Given the description of an element on the screen output the (x, y) to click on. 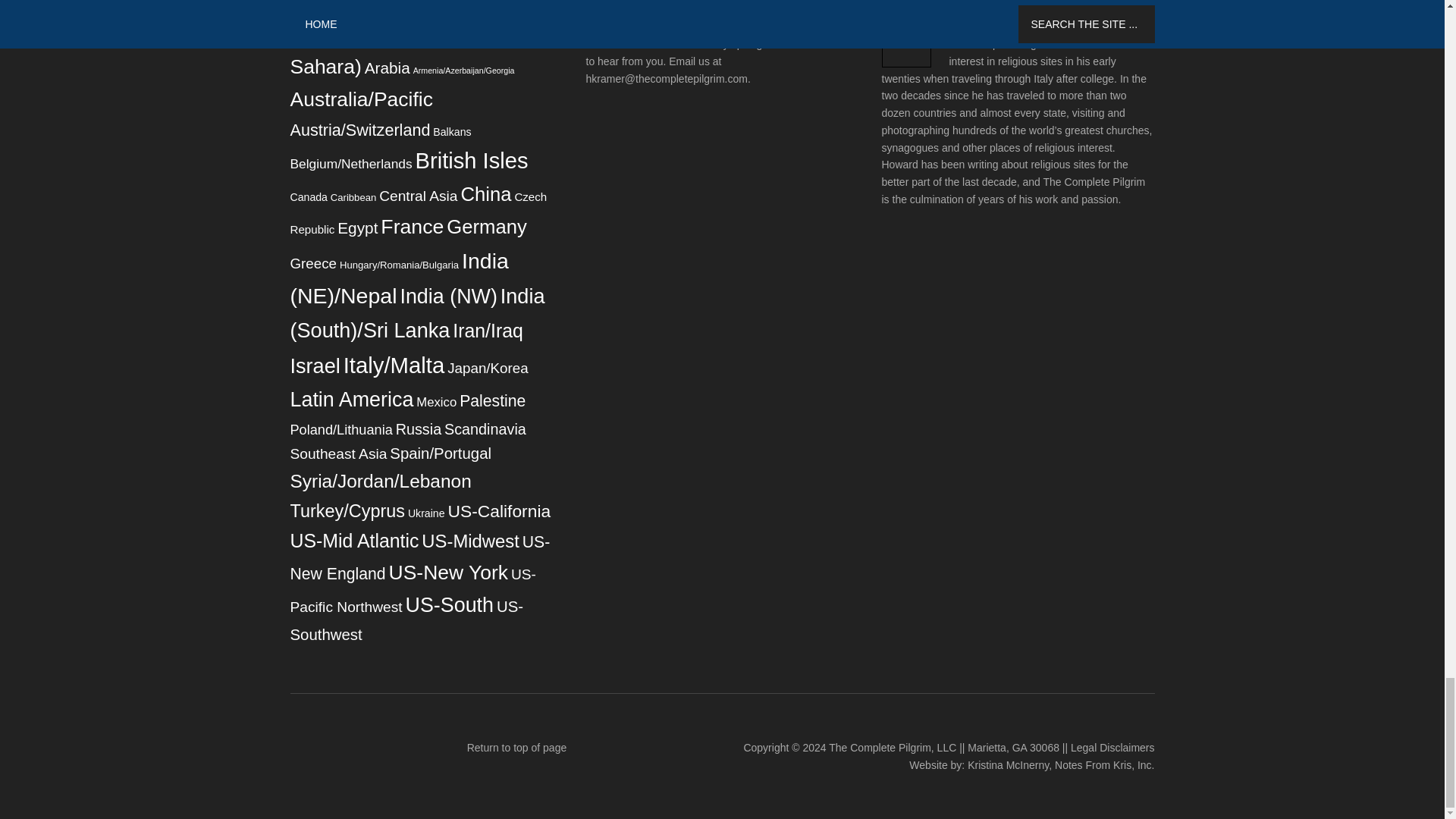
WordPress Web Developer East Cobb (1104, 765)
